Given the description of an element on the screen output the (x, y) to click on. 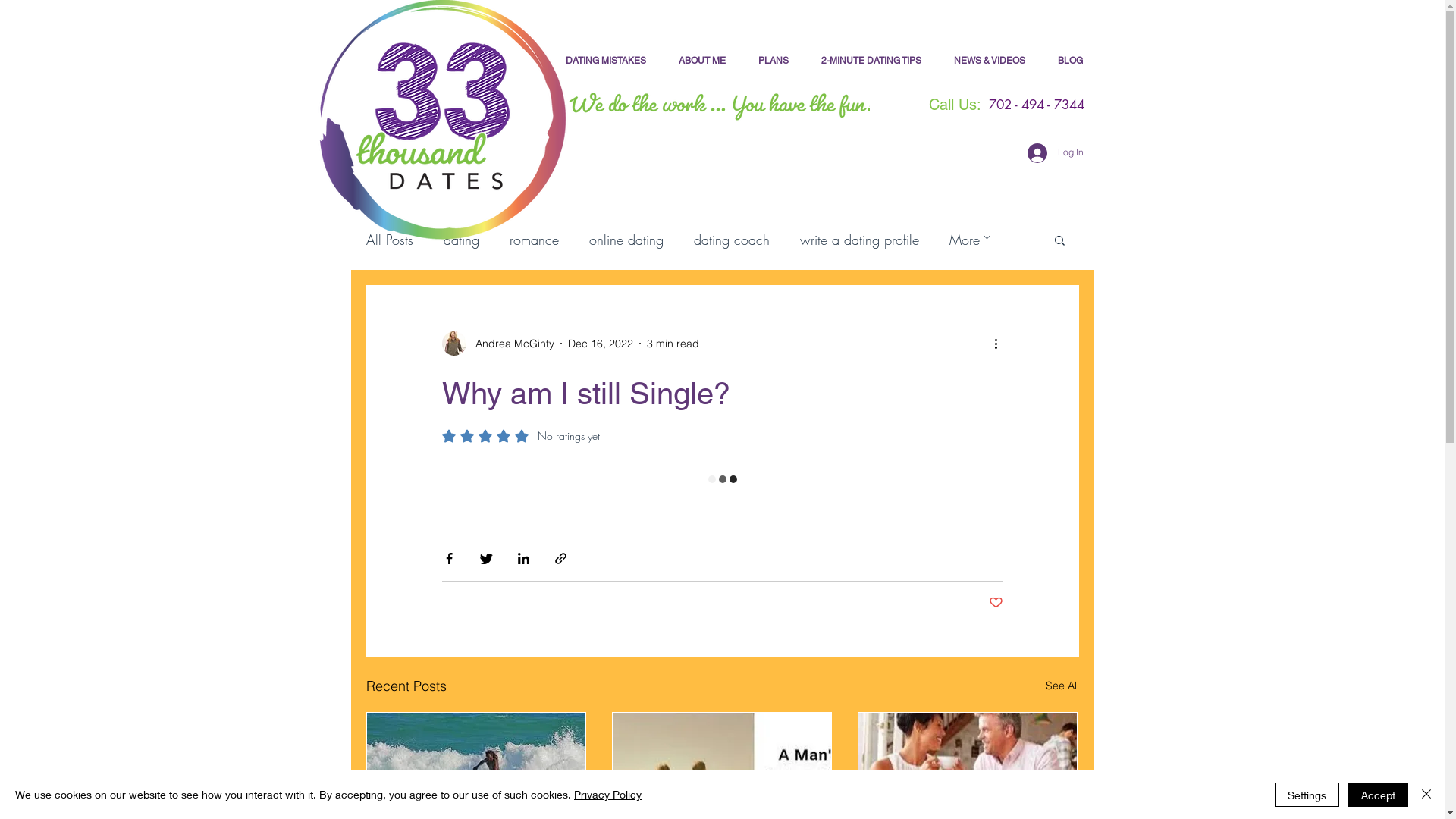
Settings Element type: text (1306, 794)
online dating Element type: text (625, 239)
BLOG Element type: text (1069, 60)
DATING MISTAKES Element type: text (605, 60)
dating Element type: text (460, 239)
702 - 494 - 7344 Element type: text (1035, 104)
Post not marked as liked Element type: text (995, 603)
Rated 0 out of 5 stars.
No ratings yet Element type: text (520, 435)
2-MINUTE DATING TIPS Element type: text (871, 60)
NEWS & VIDEOS Element type: text (989, 60)
Privacy Policy Element type: text (607, 793)
Accept Element type: text (1378, 794)
ABOUT ME Element type: text (702, 60)
See All Element type: text (1061, 685)
dating coach Element type: text (730, 239)
Log In Element type: text (1054, 152)
All Posts Element type: text (388, 239)
PLANS Element type: text (772, 60)
write a dating profile Element type: text (858, 239)
Andrea McGinty Element type: text (497, 343)
romance Element type: text (533, 239)
